Given the description of an element on the screen output the (x, y) to click on. 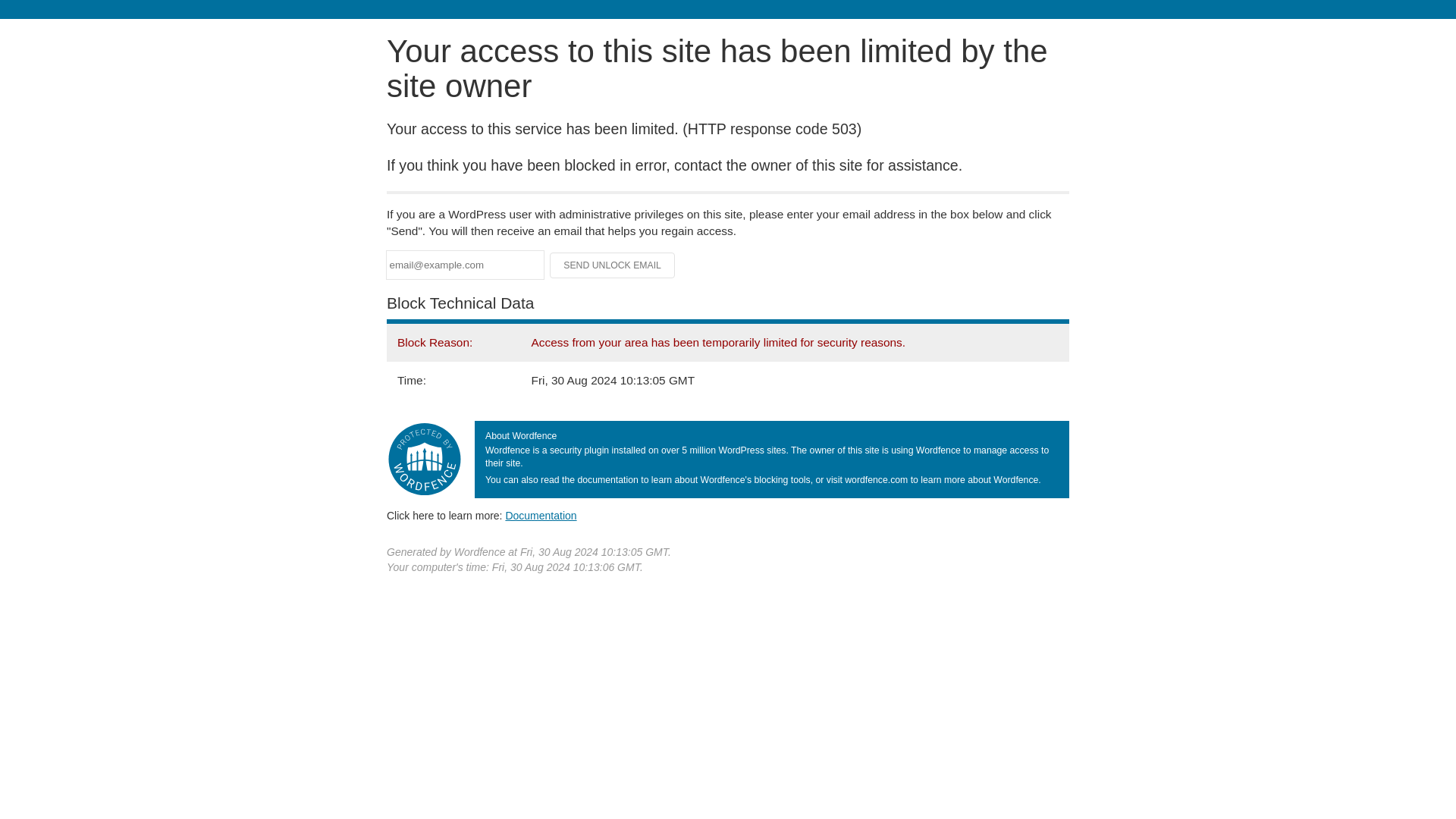
Documentation (540, 515)
Send Unlock Email (612, 265)
Send Unlock Email (612, 265)
